Given the description of an element on the screen output the (x, y) to click on. 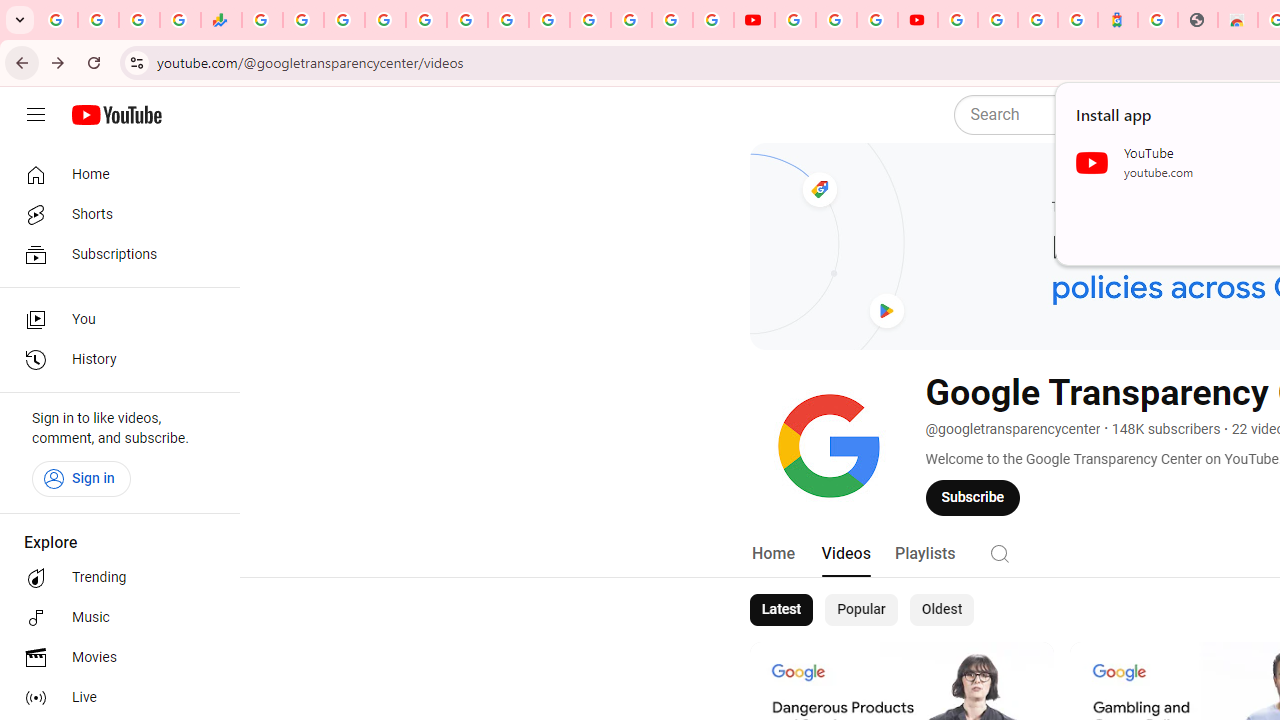
Movies (113, 657)
Sign in - Google Accounts (384, 20)
Videos (845, 553)
Google Workspace Admin Community (57, 20)
Live (113, 697)
Create your Google Account (877, 20)
YouTube (548, 20)
Shorts (113, 214)
Content Creator Programs & Opportunities - YouTube Creators (918, 20)
Subscriptions (113, 254)
